Given the description of an element on the screen output the (x, y) to click on. 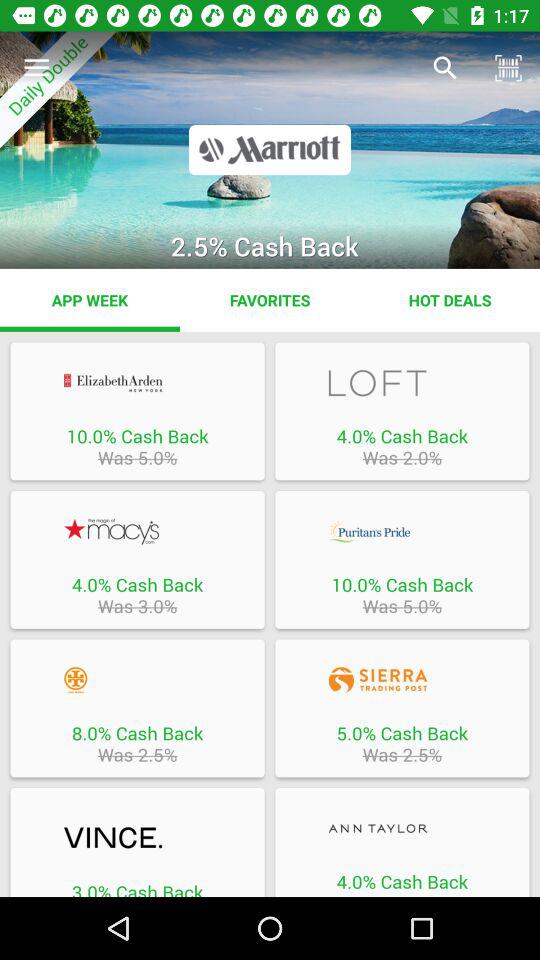
open the item to the left of the hot deals app (270, 299)
